Given the description of an element on the screen output the (x, y) to click on. 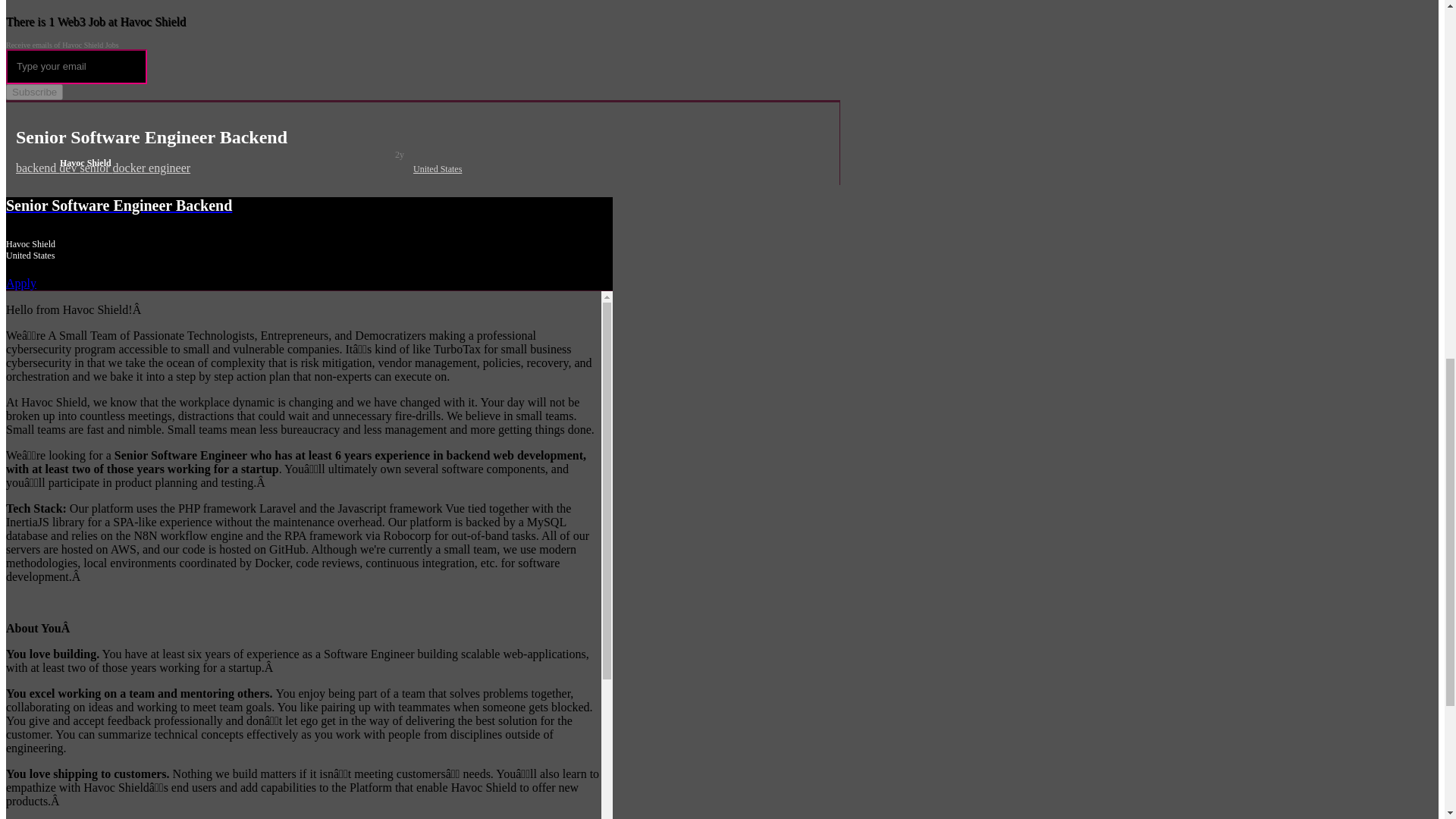
Subscribe (33, 91)
